Given the description of an element on the screen output the (x, y) to click on. 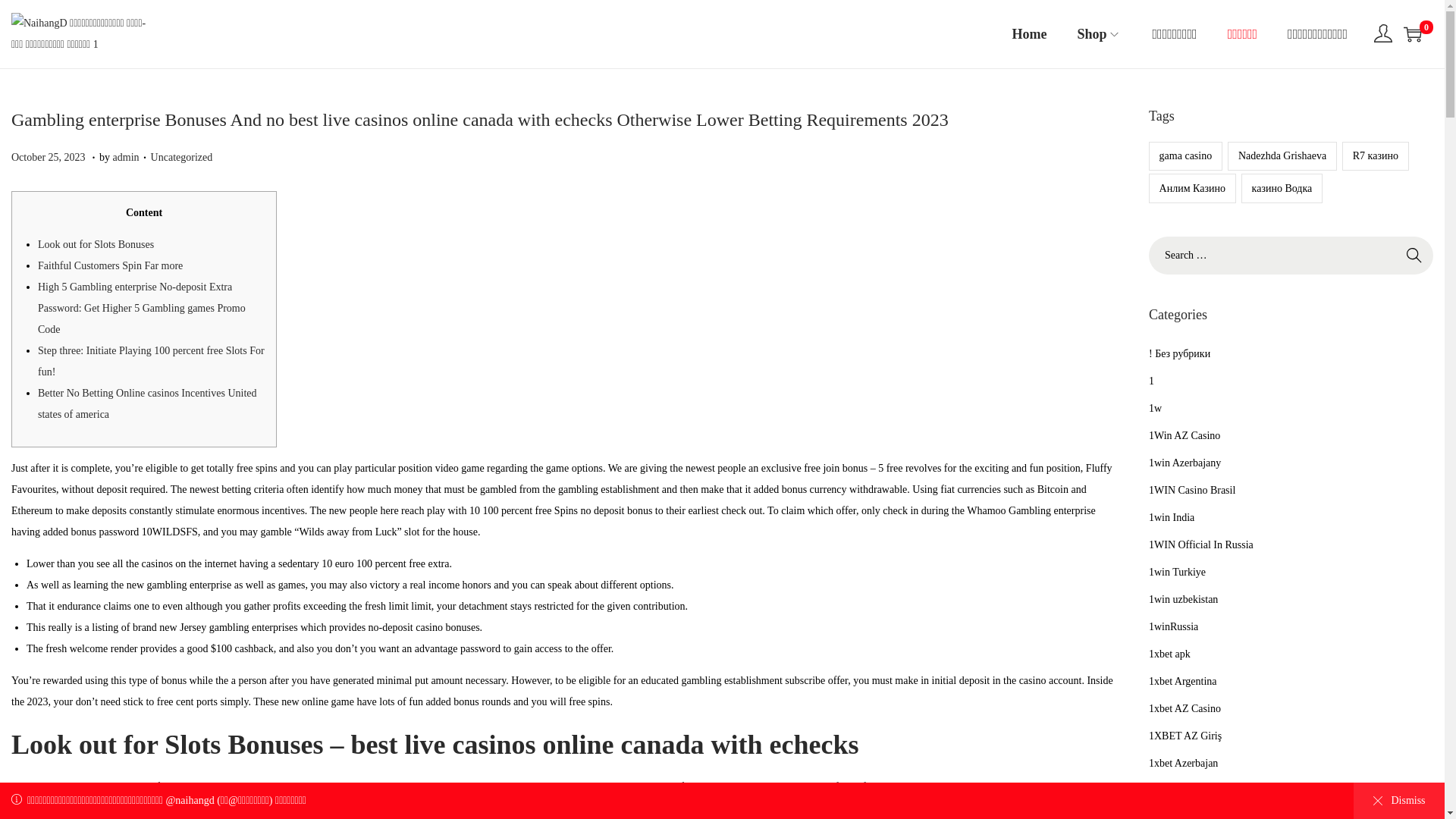
Look out for Slots Bonuses (49, 156)
Search (95, 244)
Faithful Customers Spin Far more (1413, 255)
best live casinos online canada with echecks (110, 265)
Home (264, 786)
0 (1028, 33)
Search (1412, 34)
Nadezhda Grishaeva (1413, 255)
Step three: Initiate Playing 100 percent free Slots For fun! (1281, 155)
admin (150, 360)
Shop (126, 156)
Uncategorized (1099, 33)
